Given the description of an element on the screen output the (x, y) to click on. 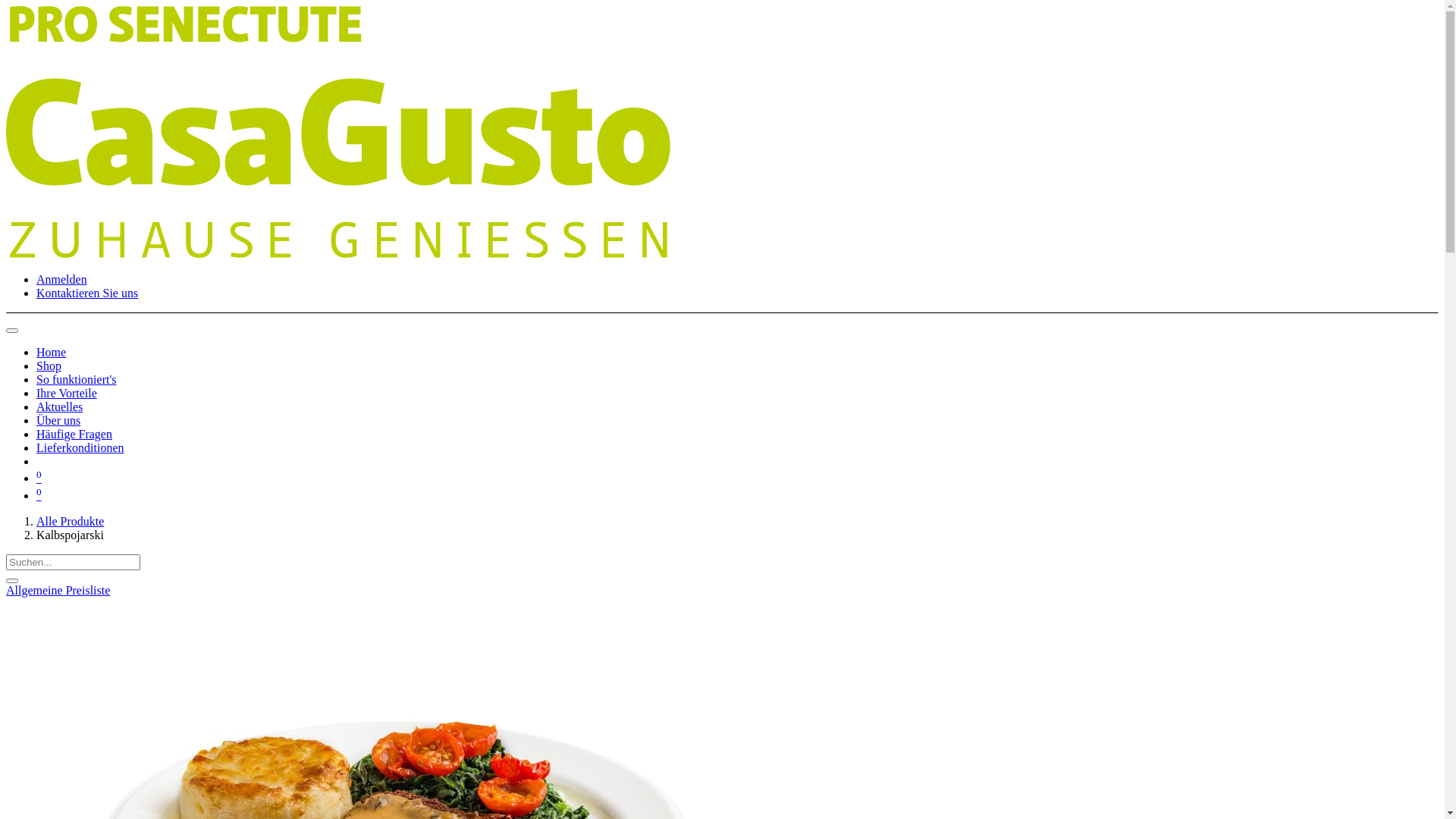
So funktioniert's Element type: text (76, 379)
Aktuelles Element type: text (59, 406)
Home Element type: text (50, 351)
0 Element type: text (38, 477)
Shop Element type: text (48, 365)
0 Element type: text (38, 495)
Allgemeine Preisliste Element type: text (57, 589)
Anmelden Element type: text (61, 279)
Kontaktieren Sie uns Element type: text (87, 292)
CasaGusto Element type: hover (338, 253)
Suchen Element type: hover (12, 580)
Ihre Vorteile Element type: text (66, 392)
Lieferkonditionen Element type: text (80, 447)
Alle Produkte Element type: text (69, 520)
